Given the description of an element on the screen output the (x, y) to click on. 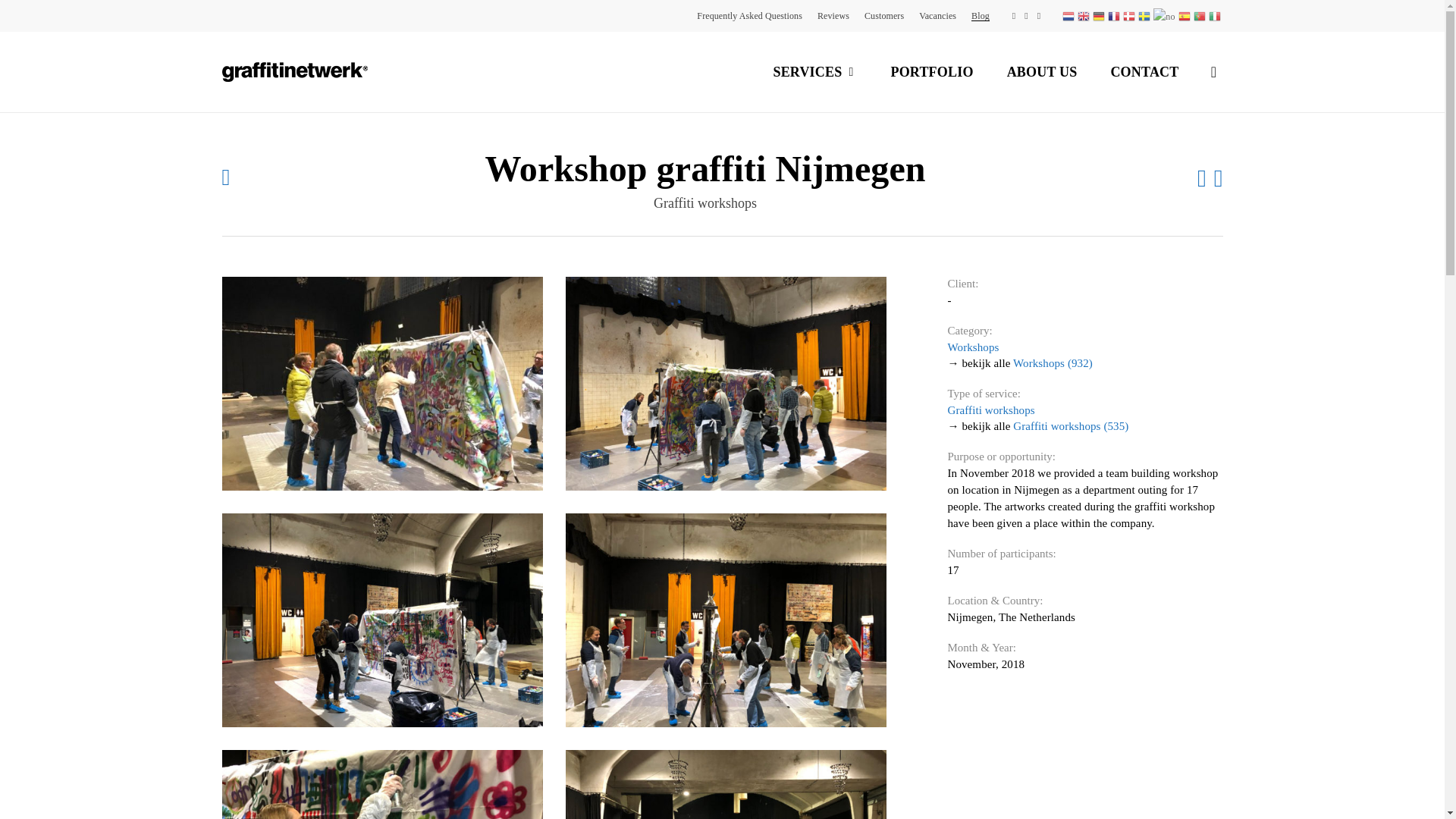
English (1083, 15)
Frequently Asked Questions (749, 15)
Services (815, 72)
Nederlands (1068, 15)
Portfolio (930, 71)
Reviews (832, 15)
Italiano (1215, 15)
Blog (980, 15)
Dansk (1129, 15)
Reviews (832, 15)
Customers (884, 15)
Frequently Asked Questions (749, 15)
Deutsch (1099, 15)
Svenska (1144, 15)
SERVICES (815, 72)
